Given the description of an element on the screen output the (x, y) to click on. 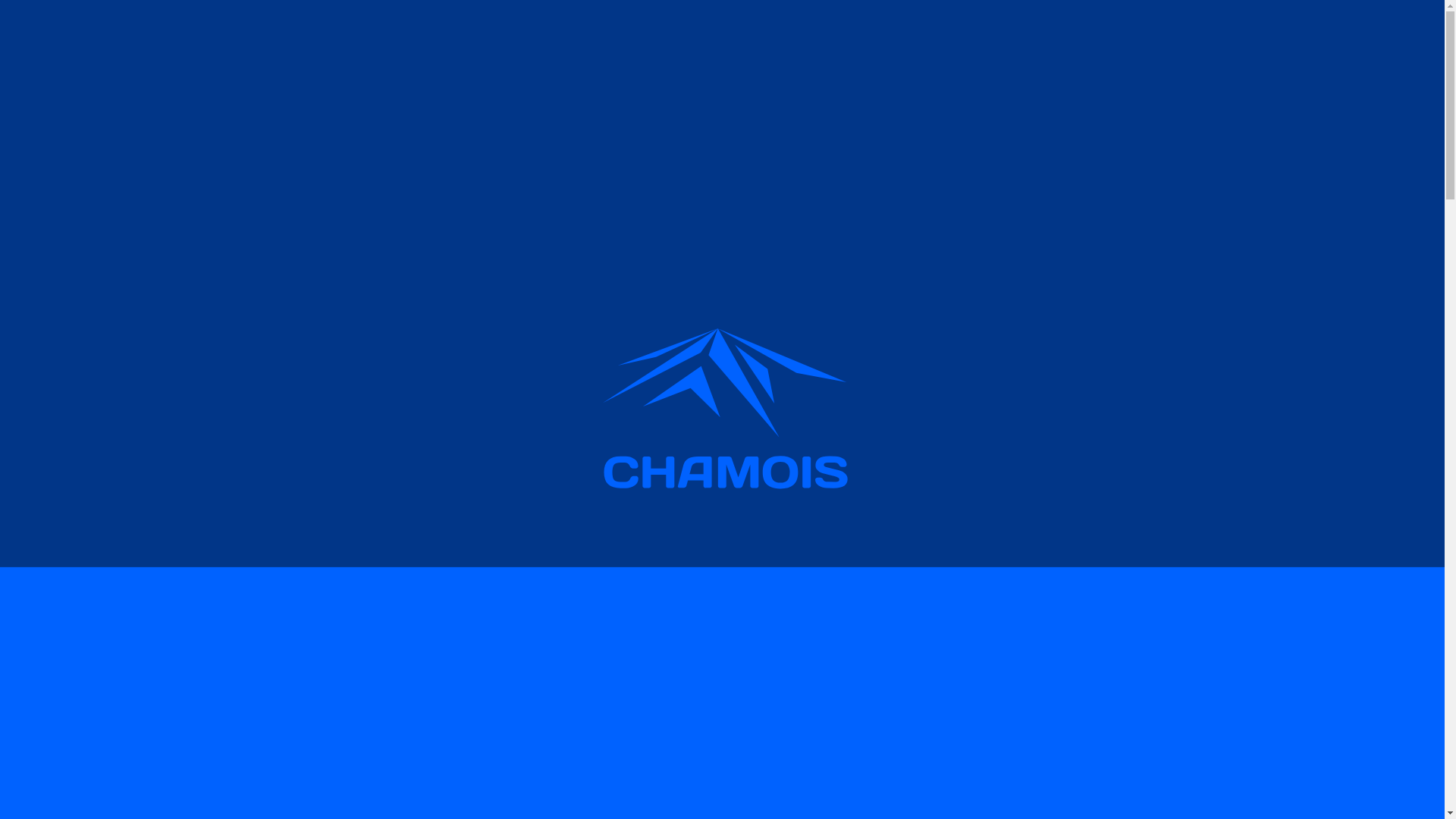
Contact (837, 48)
Reject (486, 790)
Our Work (766, 48)
About Us (609, 48)
Accept (620, 790)
Media Hub (688, 48)
